Given the description of an element on the screen output the (x, y) to click on. 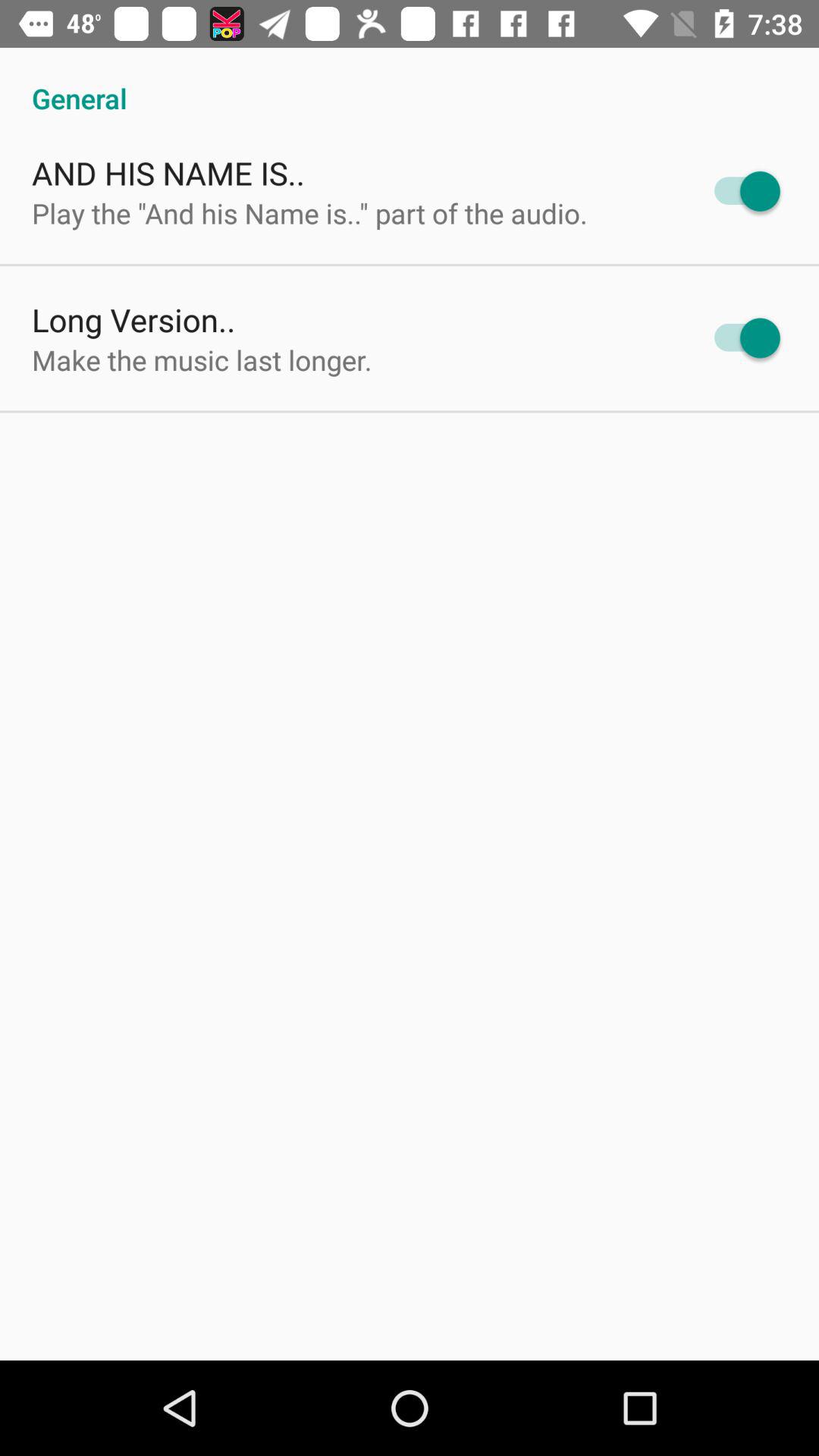
tap the long version.. (133, 319)
